Given the description of an element on the screen output the (x, y) to click on. 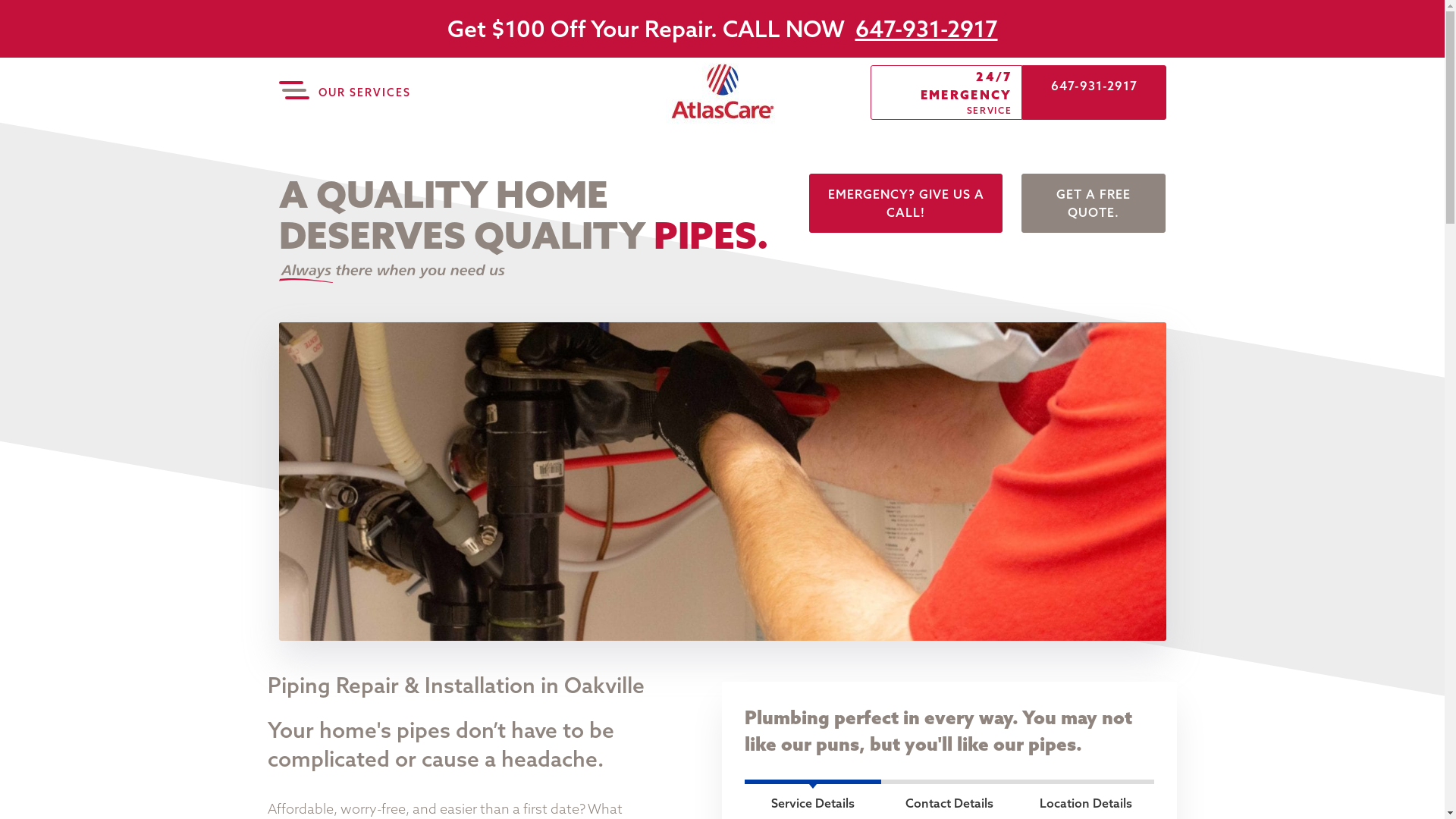
EMERGENCY? GIVE US A CALL! Element type: text (905, 202)
647-931-2917 Element type: text (926, 28)
GET A FREE QUOTE. Element type: text (1093, 202)
647-931-2917 Element type: text (1094, 92)
